Given the description of an element on the screen output the (x, y) to click on. 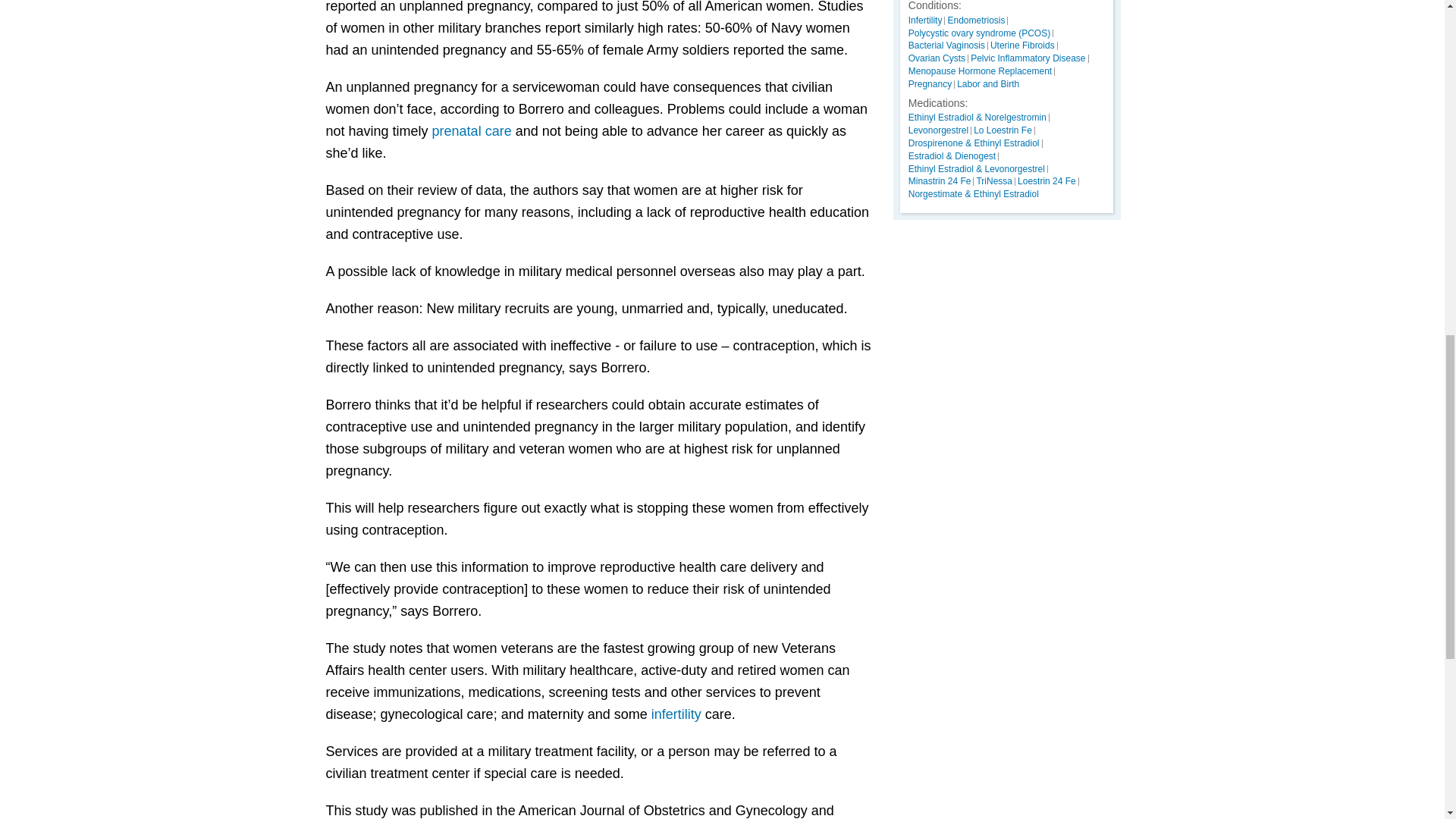
prenatal care (472, 130)
infertility (675, 713)
